Given the description of an element on the screen output the (x, y) to click on. 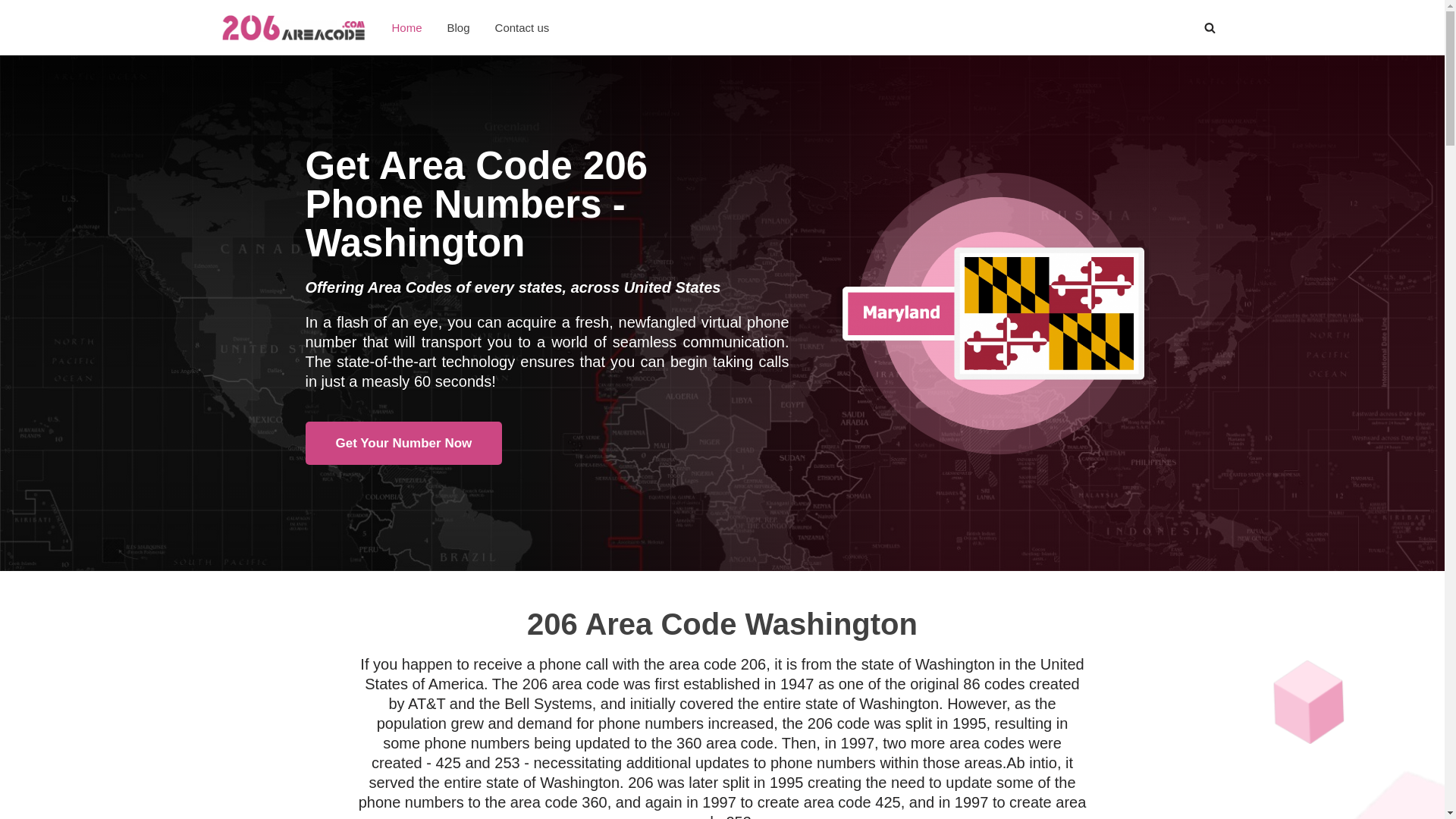
Home Element type: text (406, 27)
206 Area Code Element type: hover (293, 27)
Blog Element type: text (458, 27)
Get Your Number Now Element type: text (403, 442)
Contact us Element type: text (522, 27)
Skip to content Element type: text (11, 31)
